Given the description of an element on the screen output the (x, y) to click on. 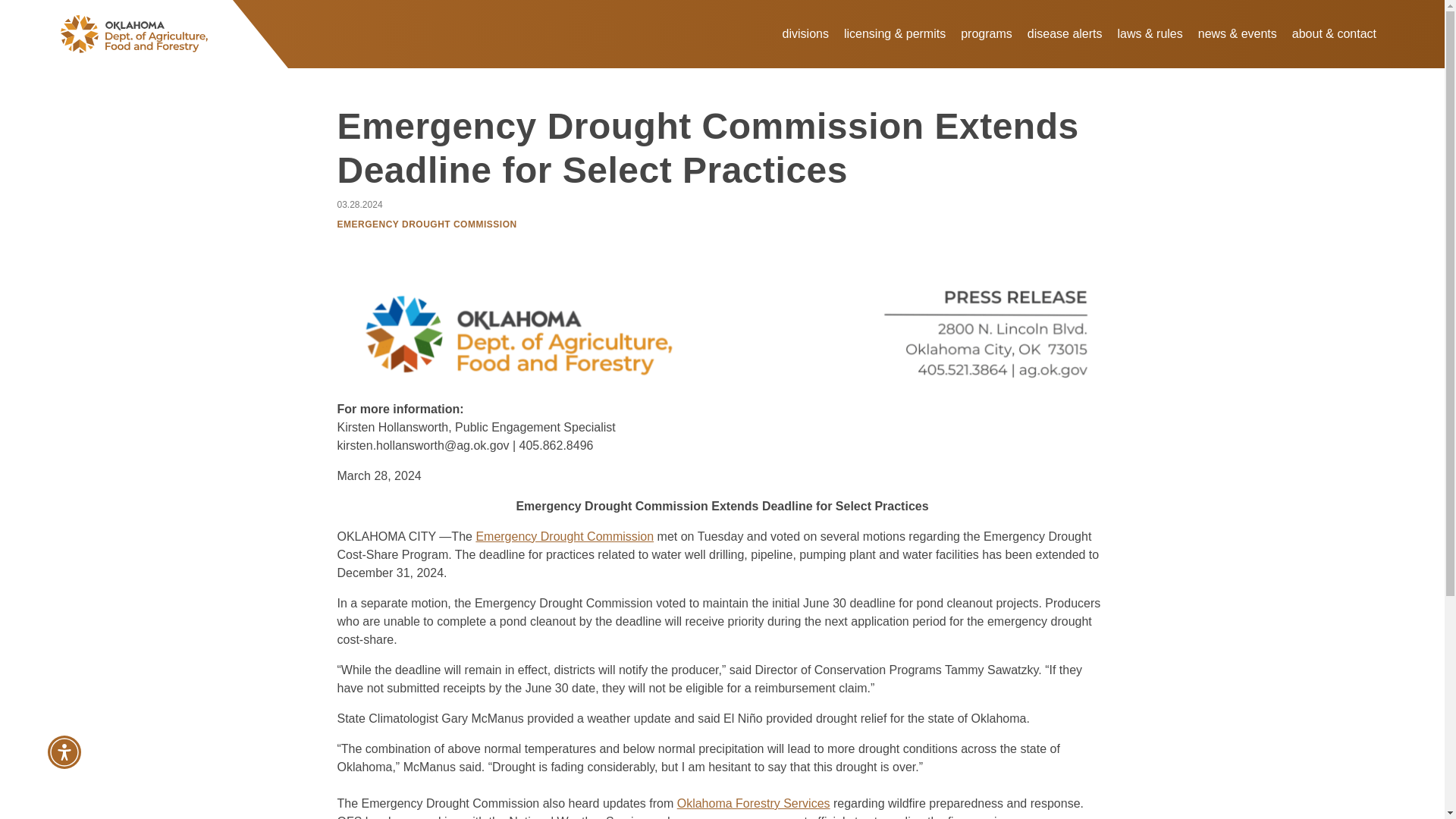
disease alerts (1064, 33)
programs (986, 33)
ODAFF (144, 33)
divisions (804, 33)
Accessibility Menu (64, 752)
